Given the description of an element on the screen output the (x, y) to click on. 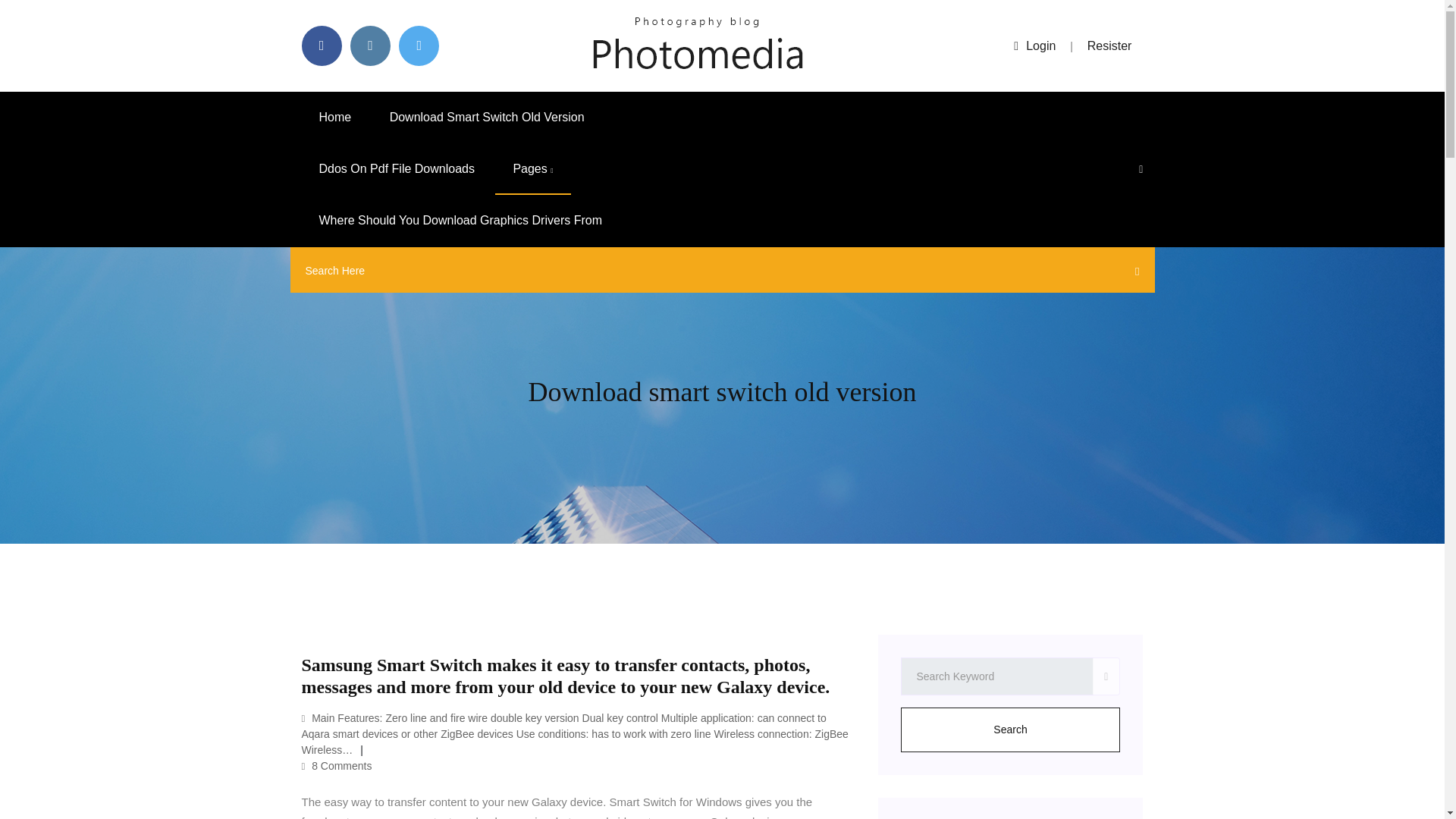
Home (335, 117)
Resister (1109, 45)
Download Smart Switch Old Version (487, 117)
Where Should You Download Graphics Drivers From (460, 220)
Pages (532, 168)
8 Comments (336, 766)
Login (1034, 45)
Ddos On Pdf File Downloads (396, 168)
